Given the description of an element on the screen output the (x, y) to click on. 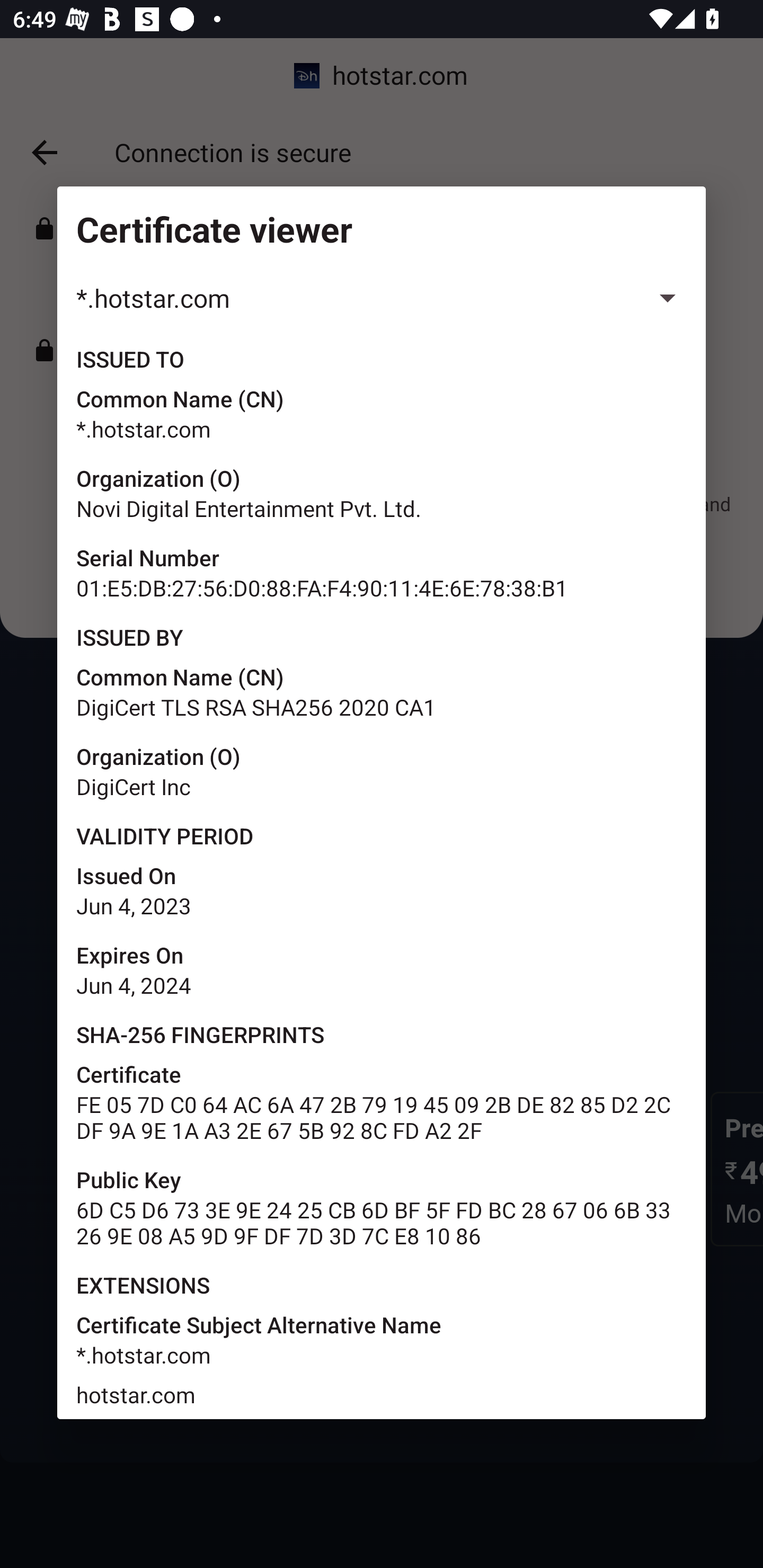
*.hotstar.com (381, 297)
